Given the description of an element on the screen output the (x, y) to click on. 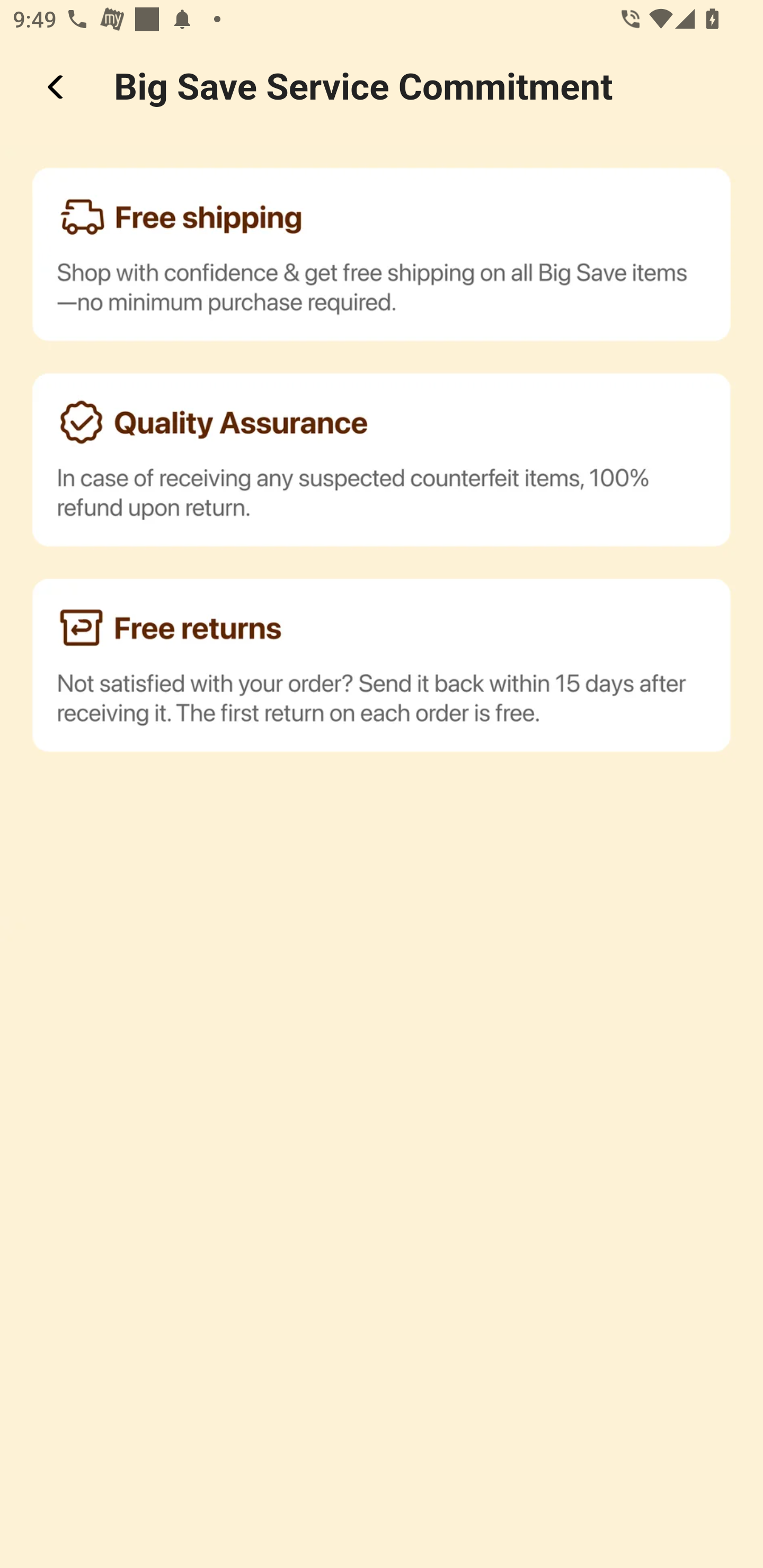
 (57, 86)
